Given the description of an element on the screen output the (x, y) to click on. 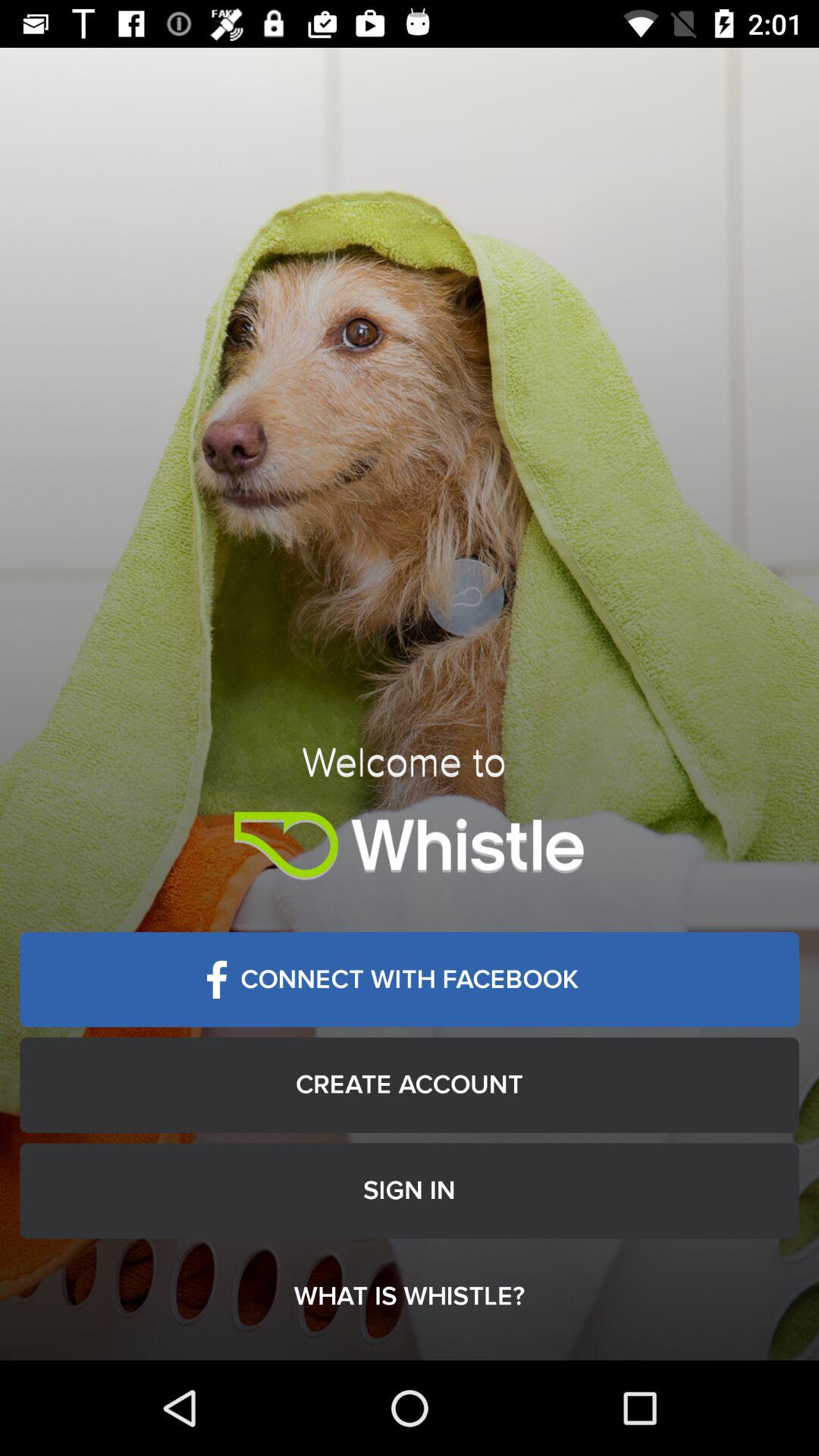
click sign in icon (409, 1190)
